Given the description of an element on the screen output the (x, y) to click on. 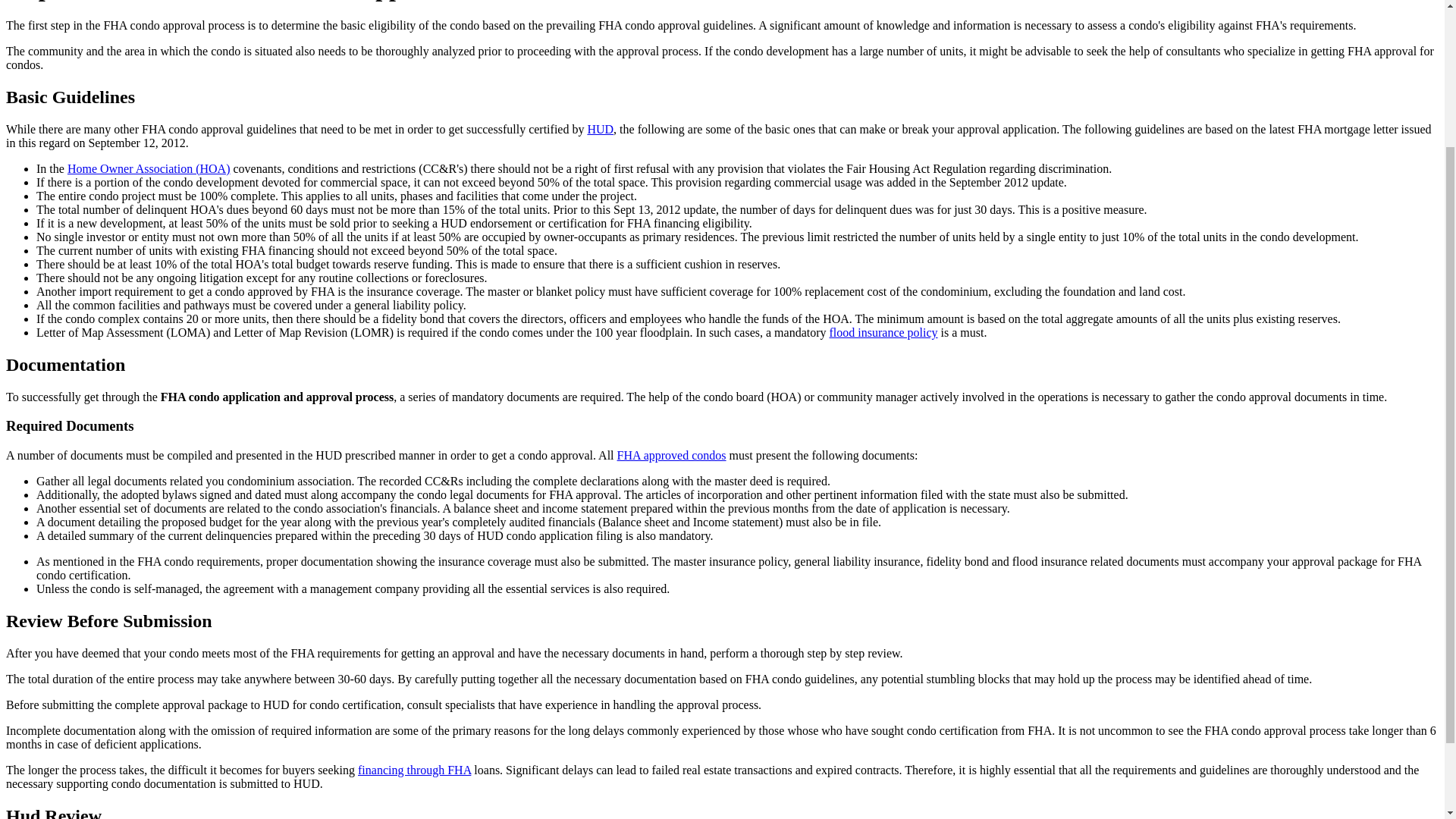
FHA approved condos (671, 454)
HUD (599, 128)
flood insurance policy (883, 332)
financing through FHA (414, 769)
